Given the description of an element on the screen output the (x, y) to click on. 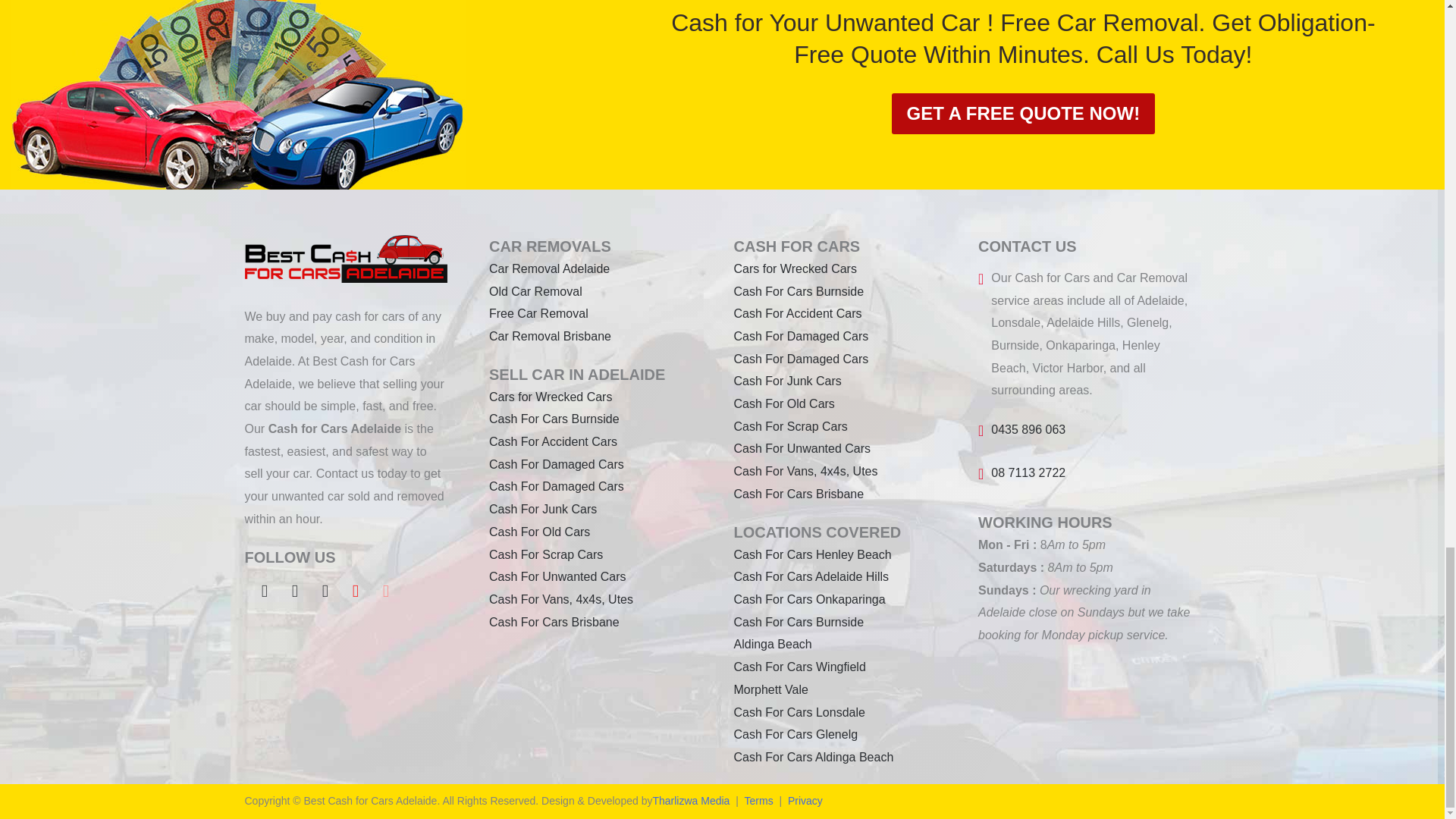
Web Design Brisbane (690, 801)
